Given the description of an element on the screen output the (x, y) to click on. 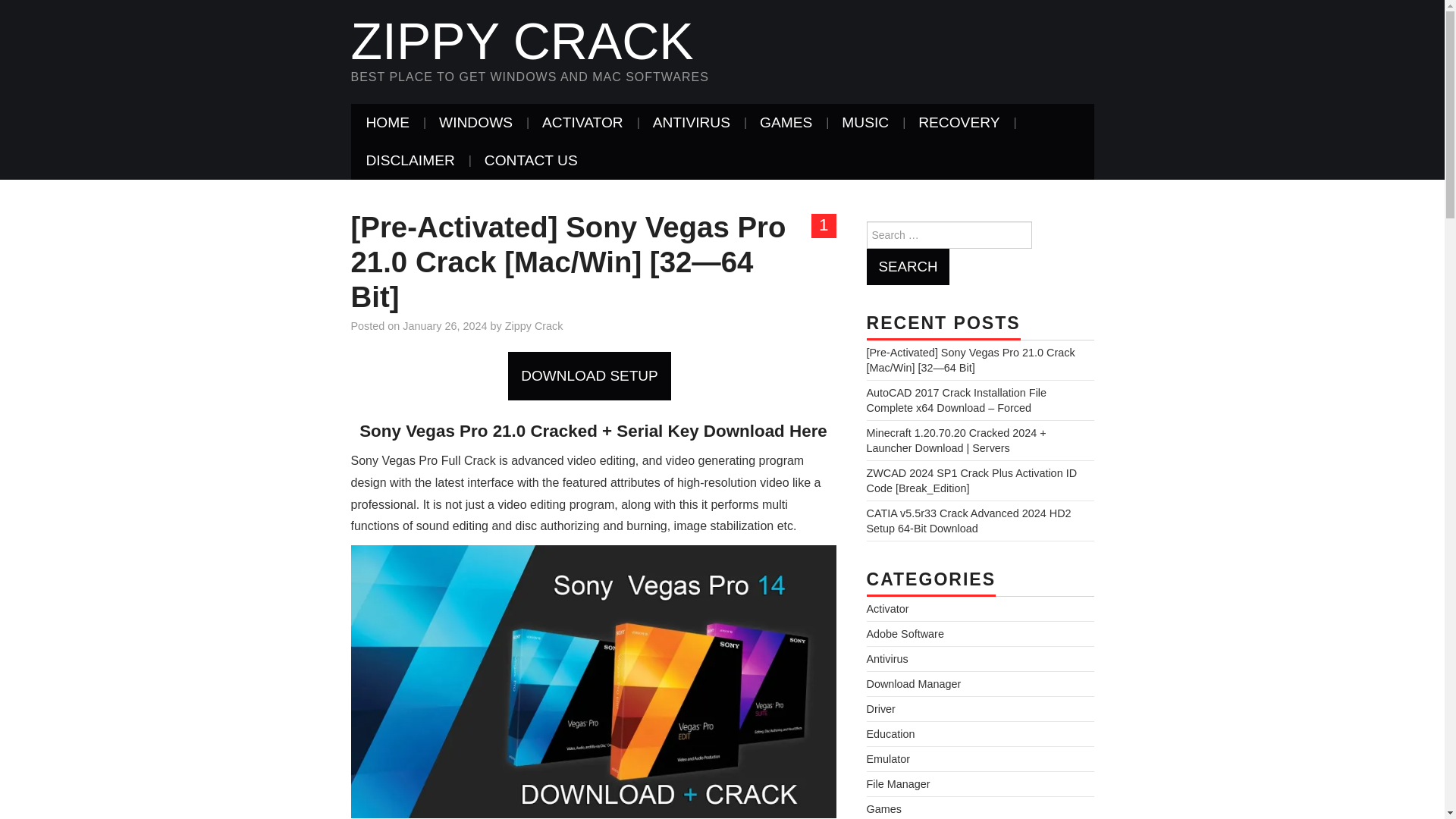
MUSIC (865, 122)
1 (822, 225)
Download Manager (913, 684)
Zippy Crack (521, 40)
DOWNLOAD SETUP (593, 374)
Search (907, 266)
RECOVERY (958, 122)
January 26, 2024 (444, 326)
CATIA v5.5r33 Crack Advanced 2024 HD2 Setup 64-Bit Download (968, 520)
ACTIVATOR (583, 122)
WINDOWS (475, 122)
Education (890, 734)
Driver (880, 708)
Search for: (948, 234)
CONTACT US (530, 160)
